Given the description of an element on the screen output the (x, y) to click on. 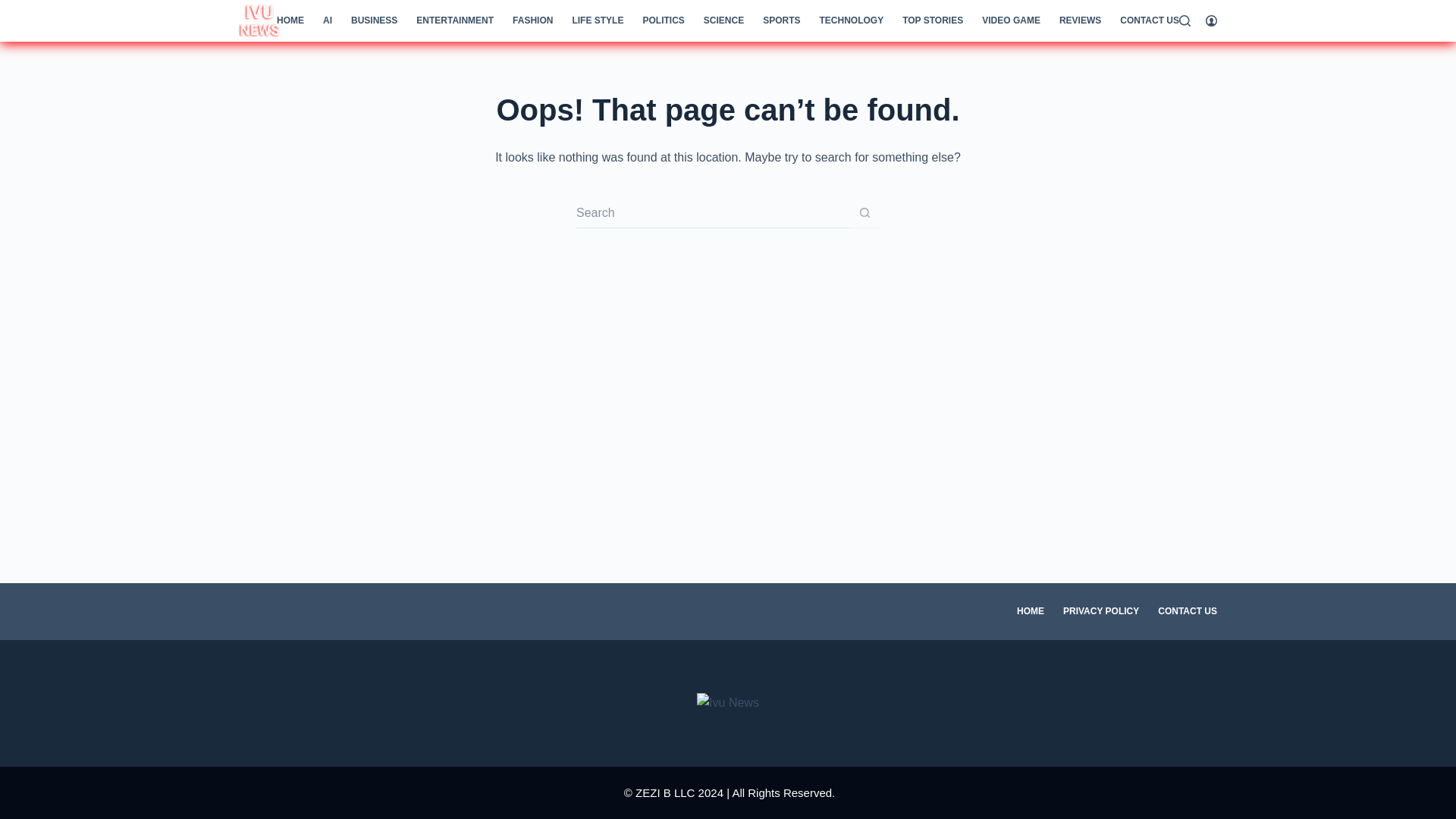
Search for... (712, 213)
TECHNOLOGY (851, 20)
SCIENCE (723, 20)
REVIEWS (1079, 20)
HOME (289, 20)
LIFE STYLE (597, 20)
TOP STORIES (932, 20)
BUSINESS (373, 20)
POLITICS (663, 20)
SPORTS (781, 20)
Skip to content (15, 7)
AI (326, 20)
ENTERTAINMENT (455, 20)
CONTACT US (1149, 20)
FASHION (532, 20)
